Given the description of an element on the screen output the (x, y) to click on. 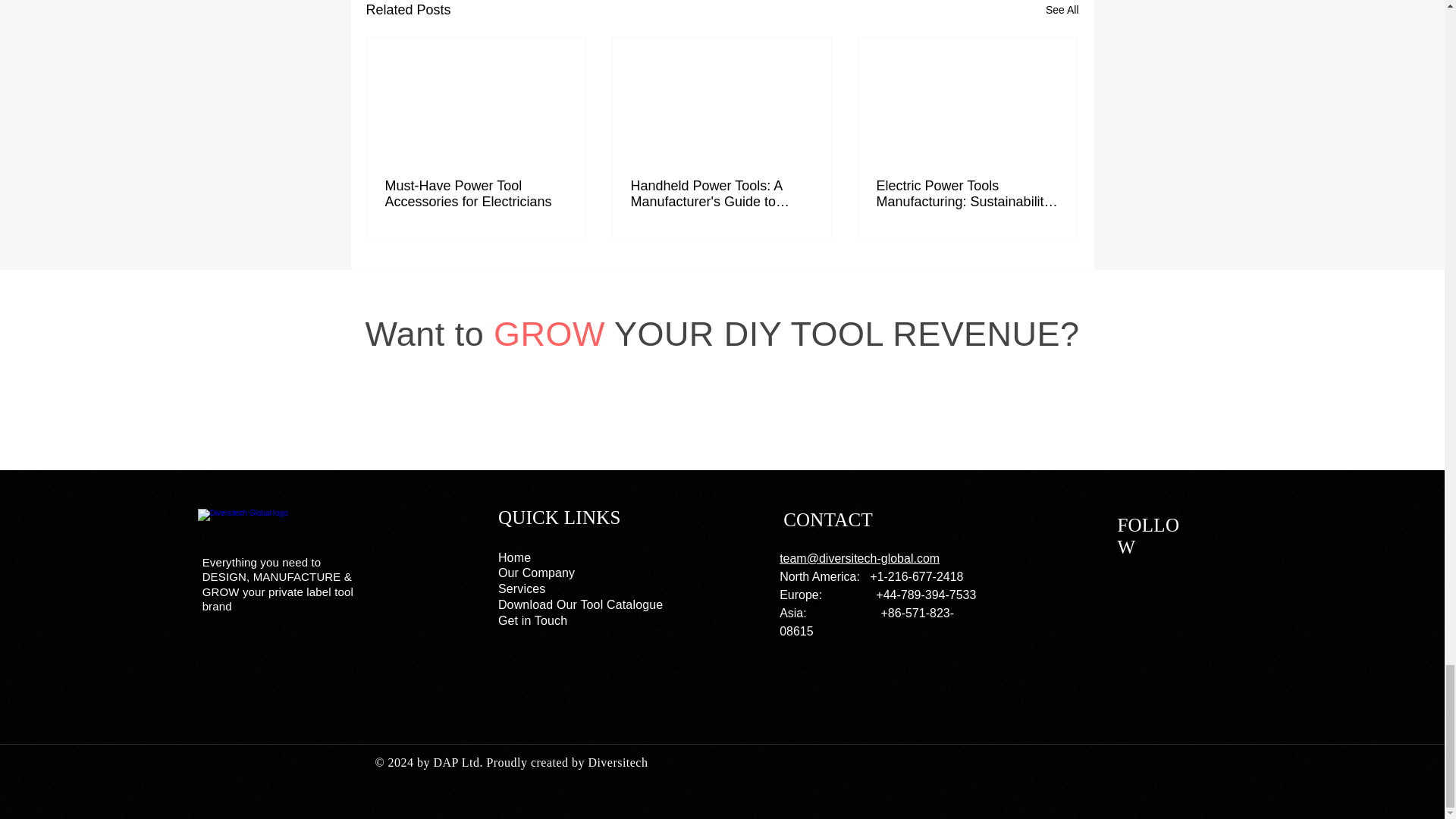
Diversitech Global logo (271, 527)
